Given the description of an element on the screen output the (x, y) to click on. 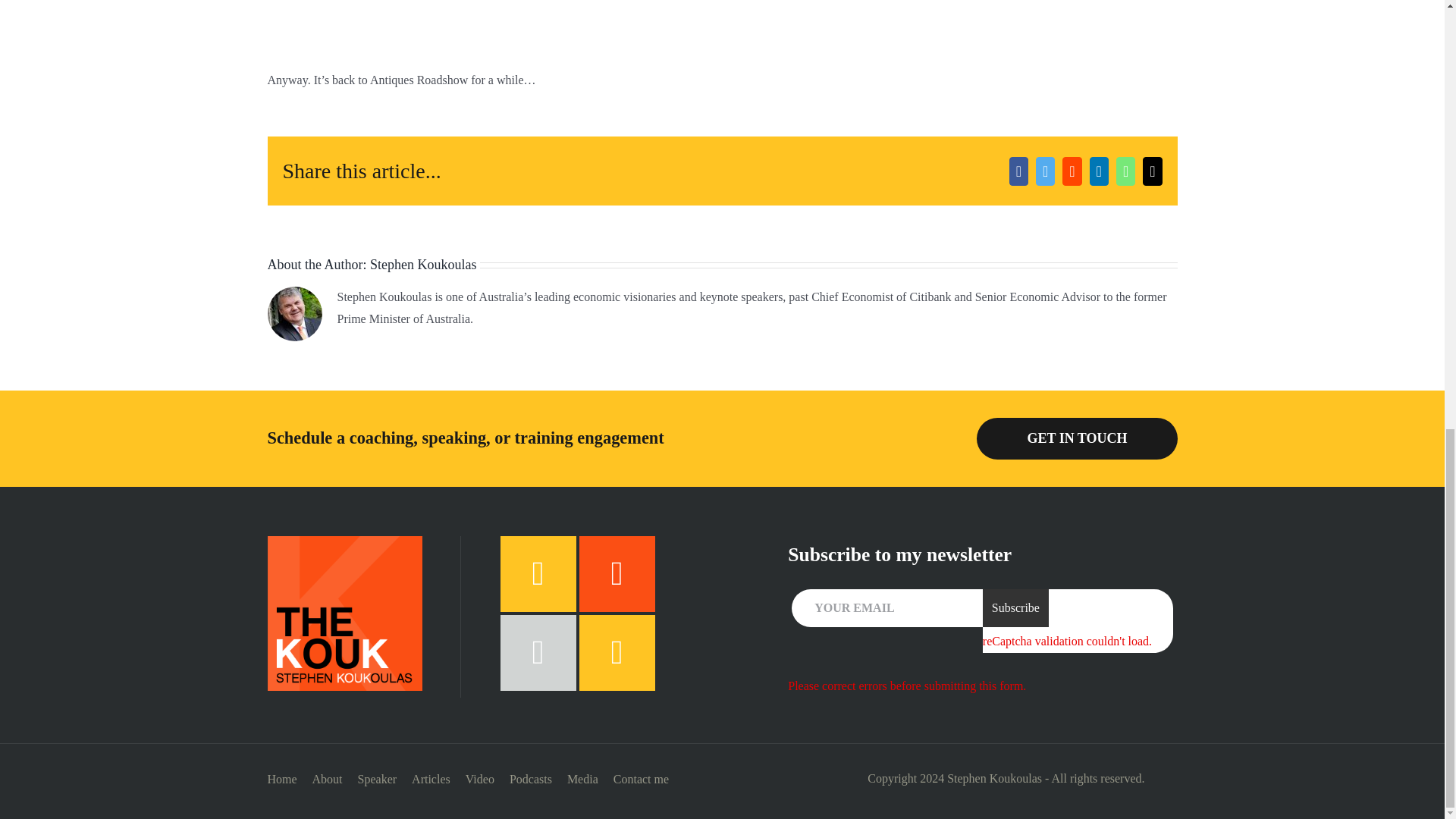
Posts by Stephen Koukoulas (422, 264)
Subscribe (1015, 607)
